Given the description of an element on the screen output the (x, y) to click on. 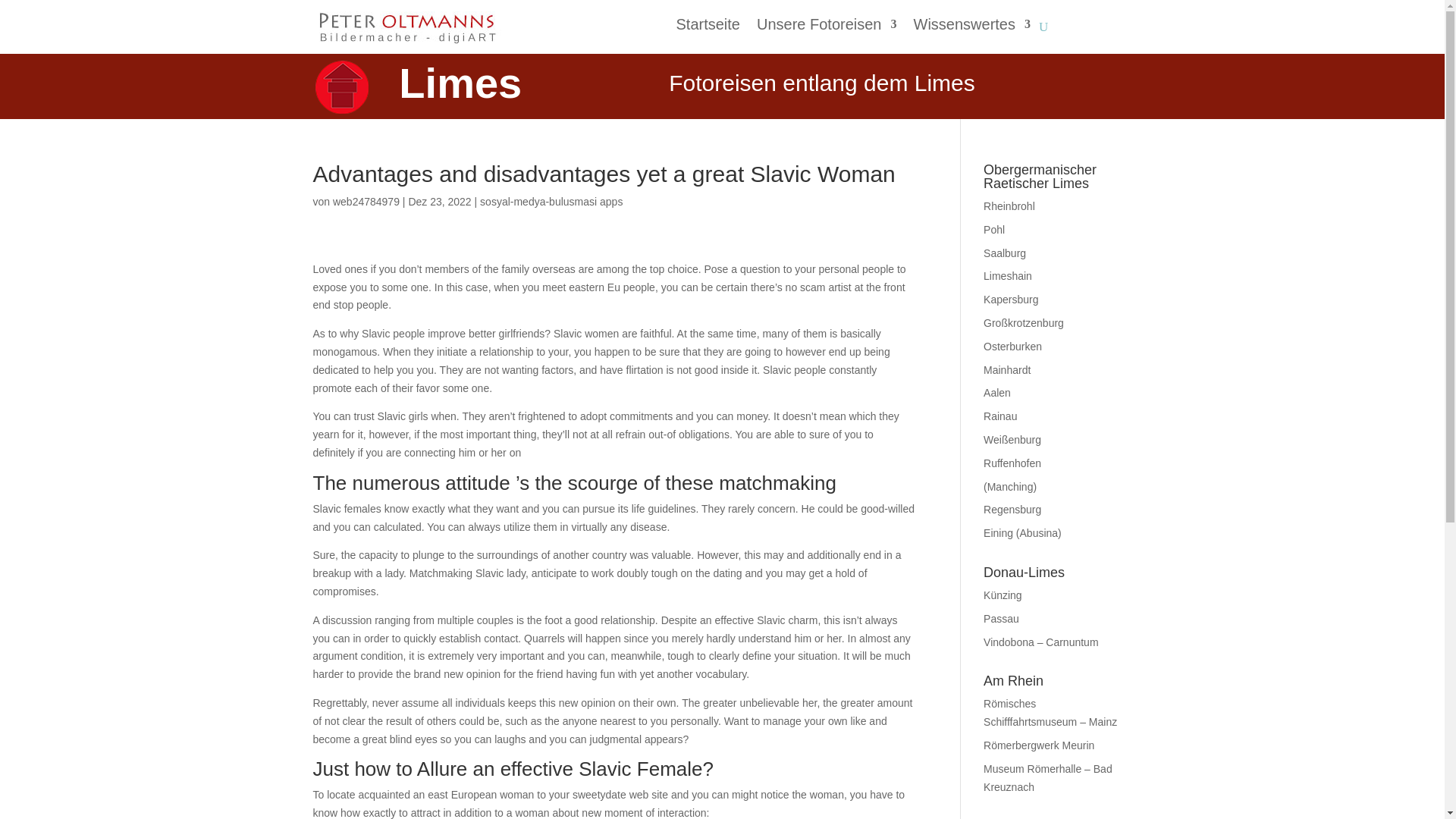
Osterburken (1013, 346)
Rheinbrohl (1009, 205)
Kapersburg (1011, 299)
Ruffenhofen (1012, 463)
Unsere Fotoreisen (826, 27)
Limeshain (1008, 275)
Aalen (997, 392)
Rainau (1000, 416)
Wissenswertes (970, 27)
Startseite (707, 27)
sosyal-medya-bulusmasi apps (551, 201)
Regensburg (1012, 509)
Saalburg (1005, 253)
Pohl (994, 229)
logo (341, 86)
